Given the description of an element on the screen output the (x, y) to click on. 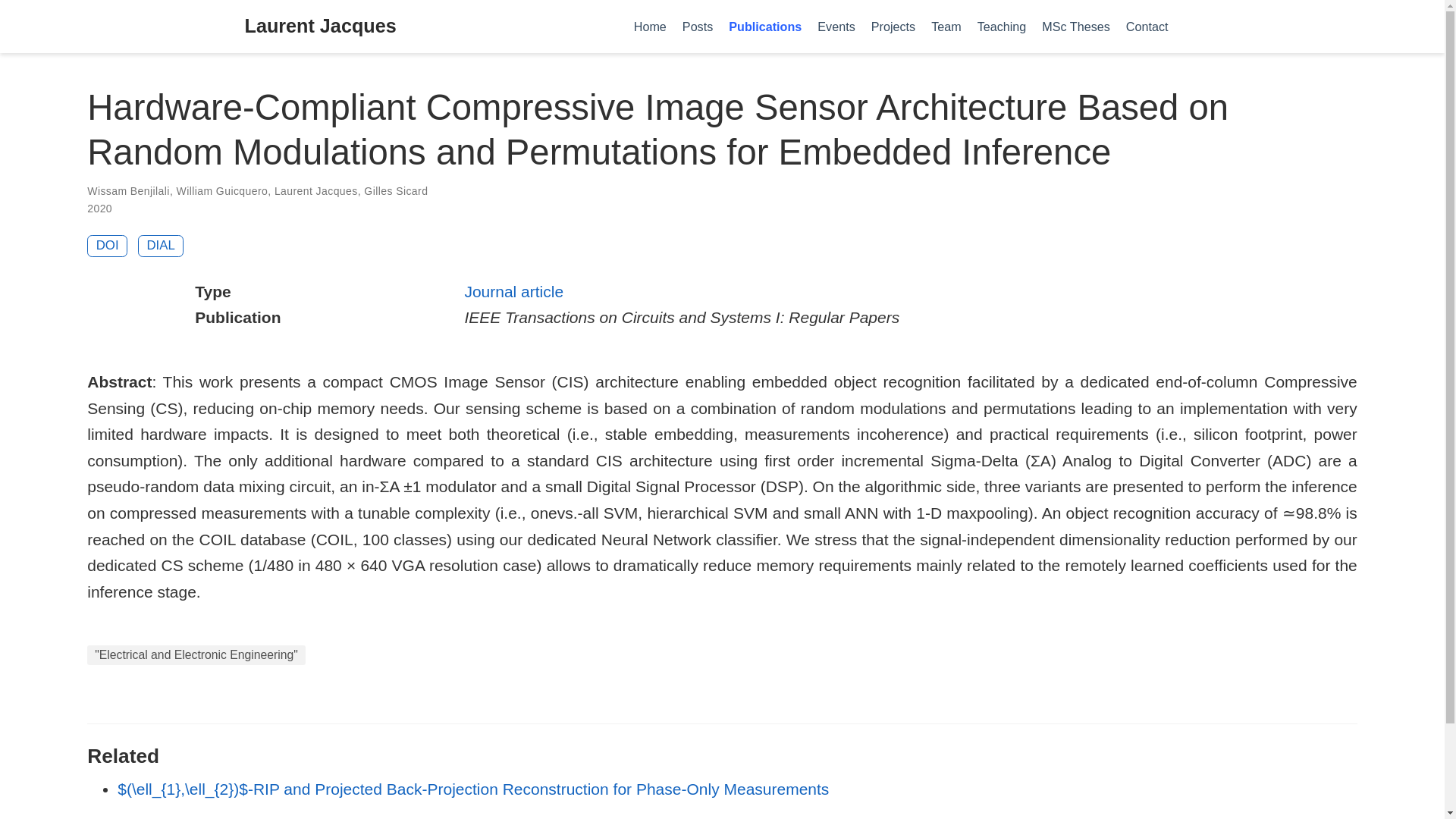
Laurent Jacques (316, 191)
"Electrical and Electronic Engineering" (196, 655)
DOI (107, 246)
MSc Theses (1075, 25)
Journal article (513, 291)
Teaching (1001, 25)
Laurent Jacques (320, 26)
Posts (697, 25)
William Guicquero (221, 191)
Events (836, 25)
